Given the description of an element on the screen output the (x, y) to click on. 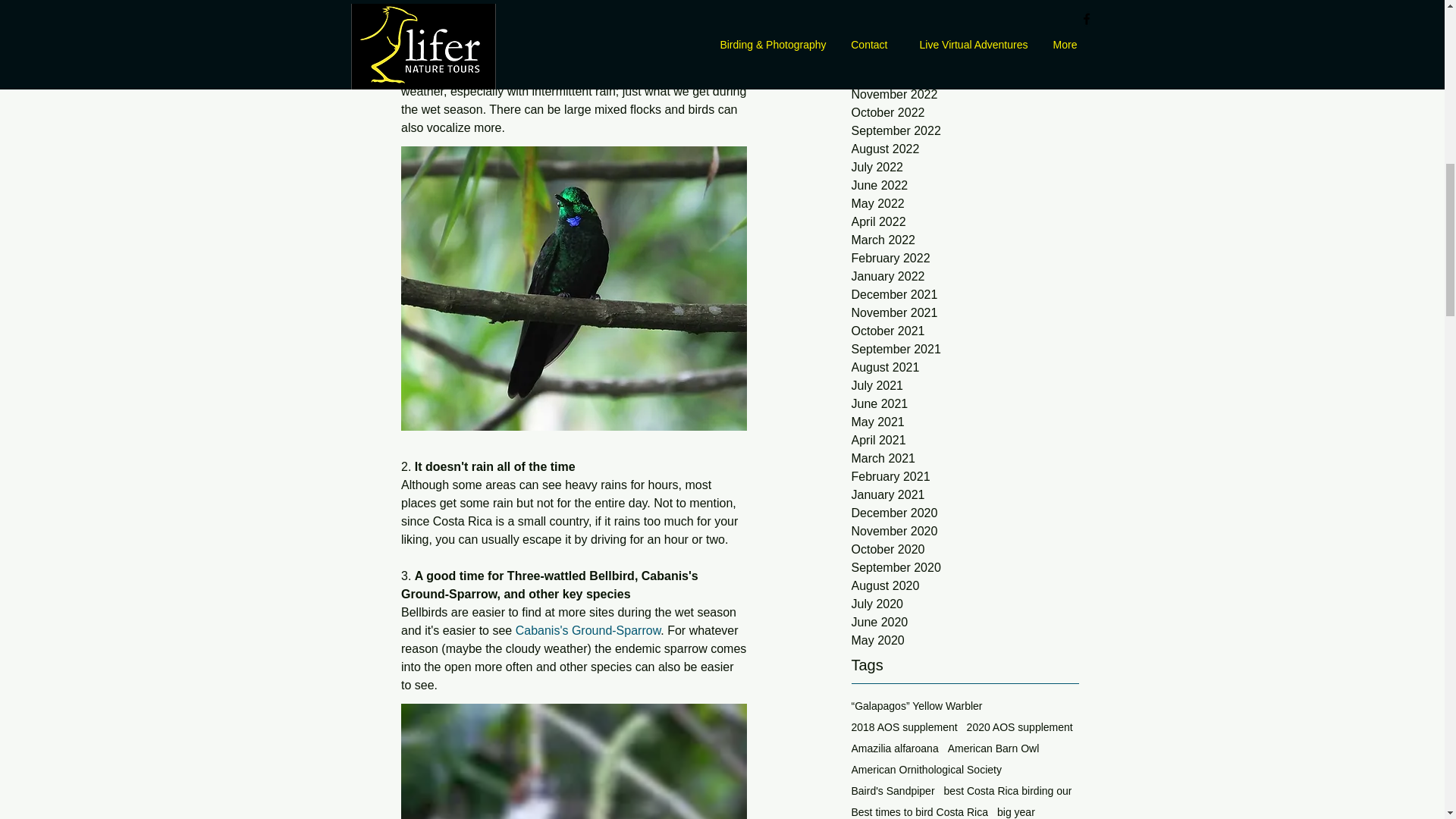
September 2022 (964, 131)
July 2022 (964, 167)
October 2022 (964, 113)
August 2022 (964, 149)
April 2023 (964, 6)
February 2023 (964, 40)
March 2023 (964, 22)
January 2023 (964, 58)
December 2022 (964, 76)
November 2022 (964, 94)
